Given the description of an element on the screen output the (x, y) to click on. 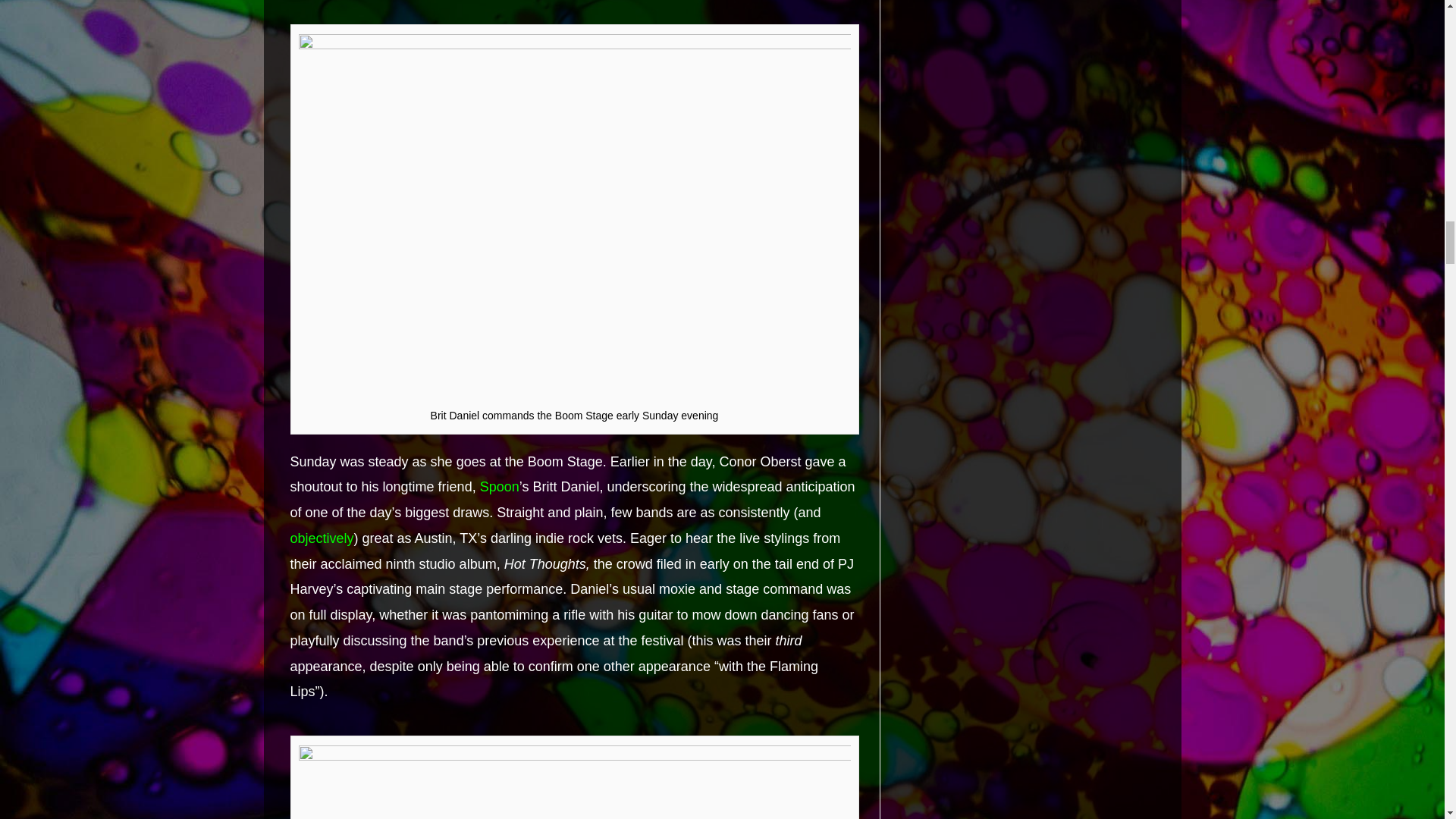
objectively (321, 538)
Spoon (499, 486)
